Given the description of an element on the screen output the (x, y) to click on. 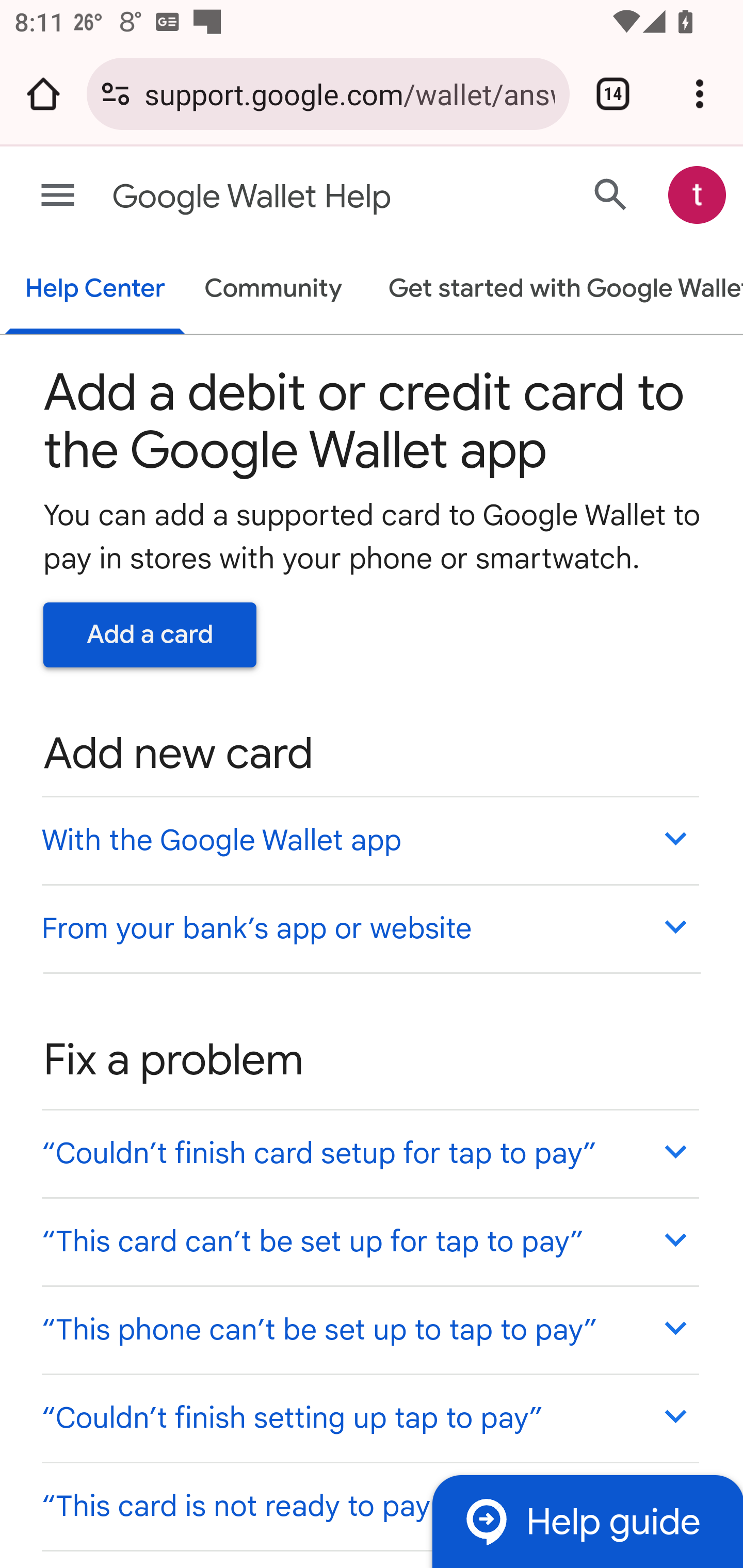
Open the home page (43, 93)
Connection is secure (115, 93)
Switch or close tabs (612, 93)
Customize and control Google Chrome (699, 93)
Main menu (58, 195)
Google Wallet Help (292, 197)
Search Help Center (611, 194)
Help Center (94, 289)
Community (273, 289)
Get started with Google Wallet (555, 289)
Add a card (150, 633)
With the Google Wallet app (369, 839)
From your bank’s app or website (369, 927)
“Couldn’t finish card setup for tap to pay” (369, 1152)
“This card can’t be set up for tap to pay” (369, 1240)
“This phone can’t be set up to tap to pay” (369, 1329)
“Couldn’t finish setting up tap to pay” (369, 1417)
“This card is not ready to pay online” (369, 1504)
Help guide (587, 1520)
